Given the description of an element on the screen output the (x, y) to click on. 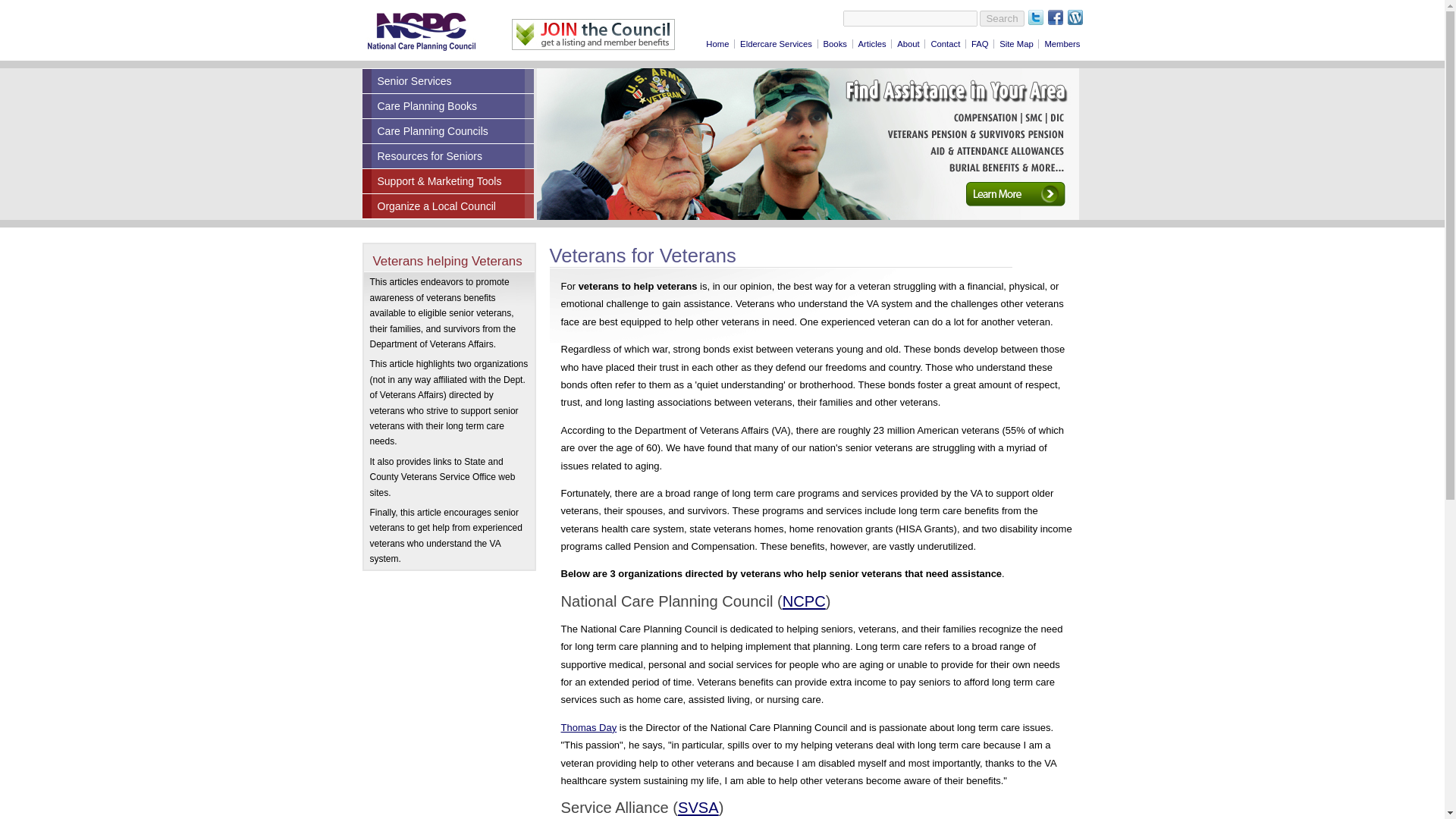
Care Planning Councils (448, 130)
Contact Us (943, 43)
Contact (943, 43)
Organize a Local Council (448, 206)
About Us (906, 43)
Login to the Member Area (1059, 43)
Find Help in Your Area (773, 43)
Resources for Seniors (448, 156)
Books (832, 43)
Sitemap (1013, 43)
Eldercare Services (773, 43)
NCPC (804, 600)
Members (1059, 43)
Thomas Day (588, 727)
Frequently Asked Questions (978, 43)
